Given the description of an element on the screen output the (x, y) to click on. 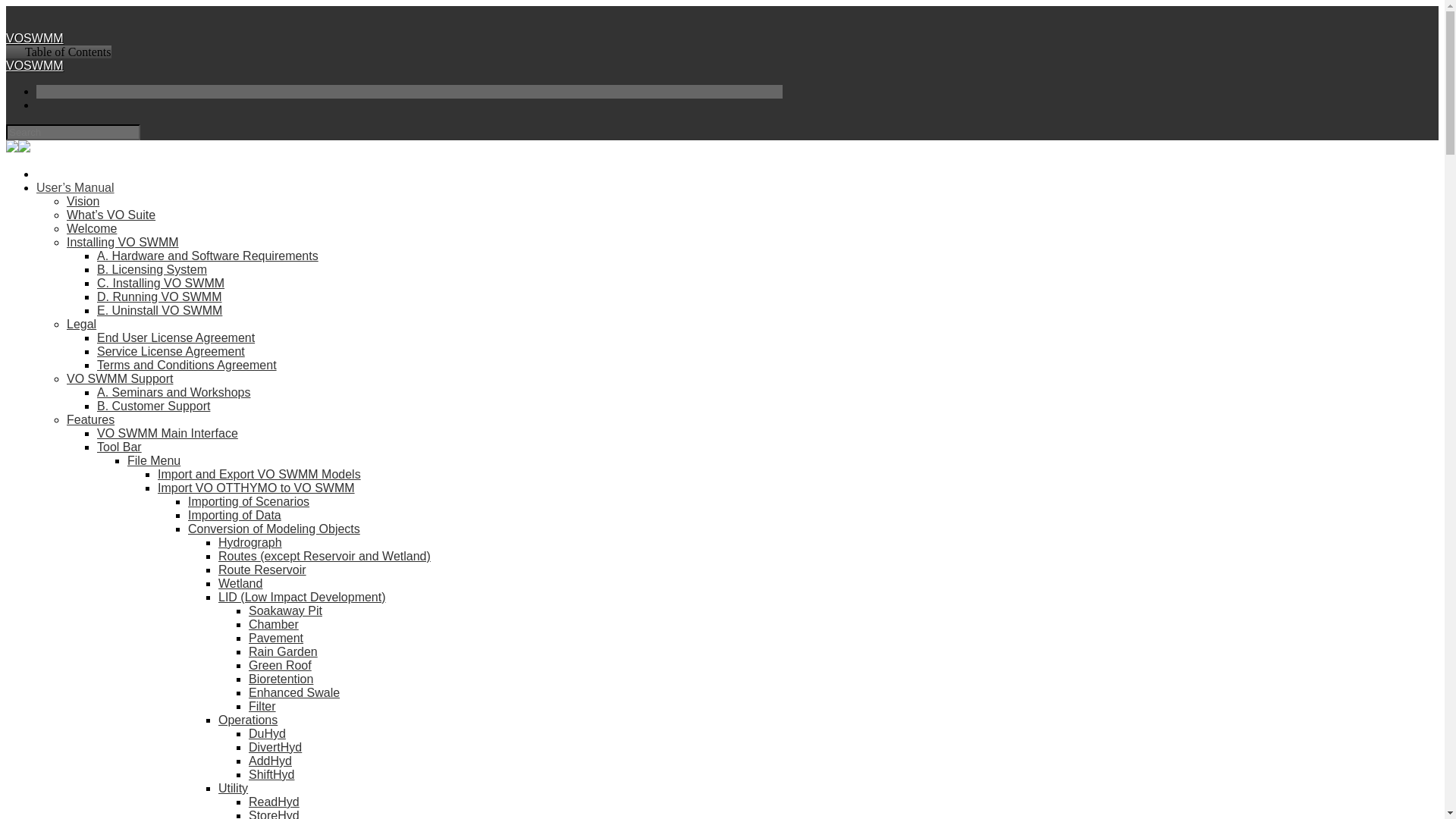
Importing of Data (234, 514)
VOSWMM (34, 65)
Hydrograph (250, 542)
Import and Export VO SWMM Models (259, 473)
Installing VO SWMM (122, 241)
Welcome (91, 228)
Tool Bar (119, 446)
VO SWMM Support (119, 378)
A. Seminars and Workshops (173, 391)
VOSWMM (34, 38)
Soakaway Pit (284, 610)
File Menu (154, 460)
End User License Agreement (175, 337)
Terms and Conditions Agreement (186, 364)
Features (90, 419)
